Given the description of an element on the screen output the (x, y) to click on. 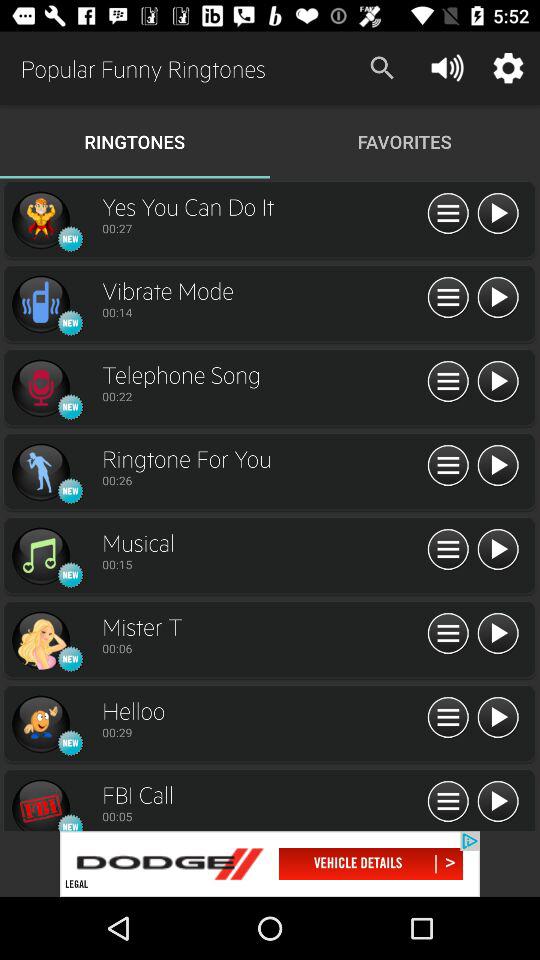
vibrate mode option (40, 304)
